Given the description of an element on the screen output the (x, y) to click on. 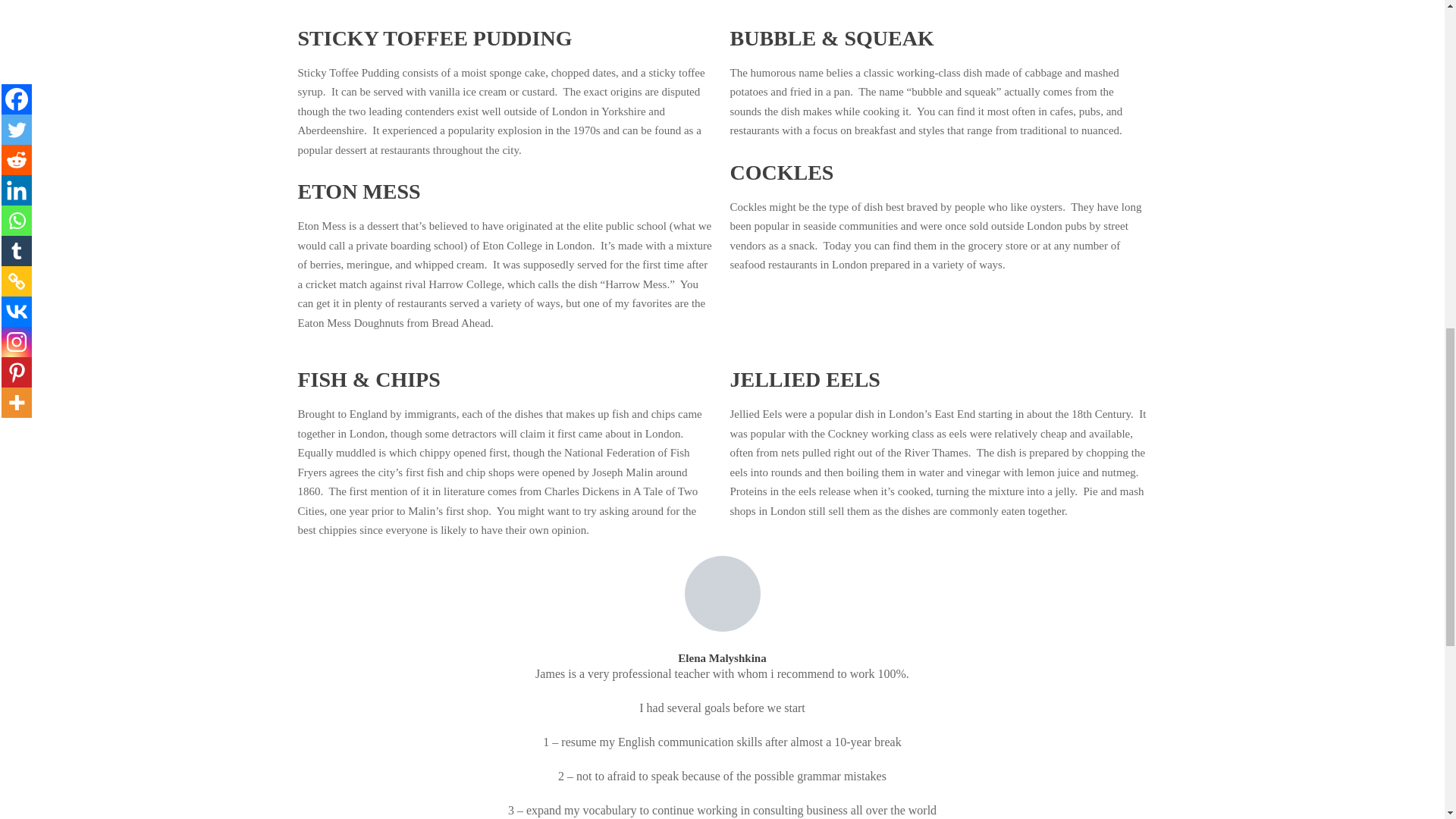
Elena Malyshkina, Review (722, 592)
